Given the description of an element on the screen output the (x, y) to click on. 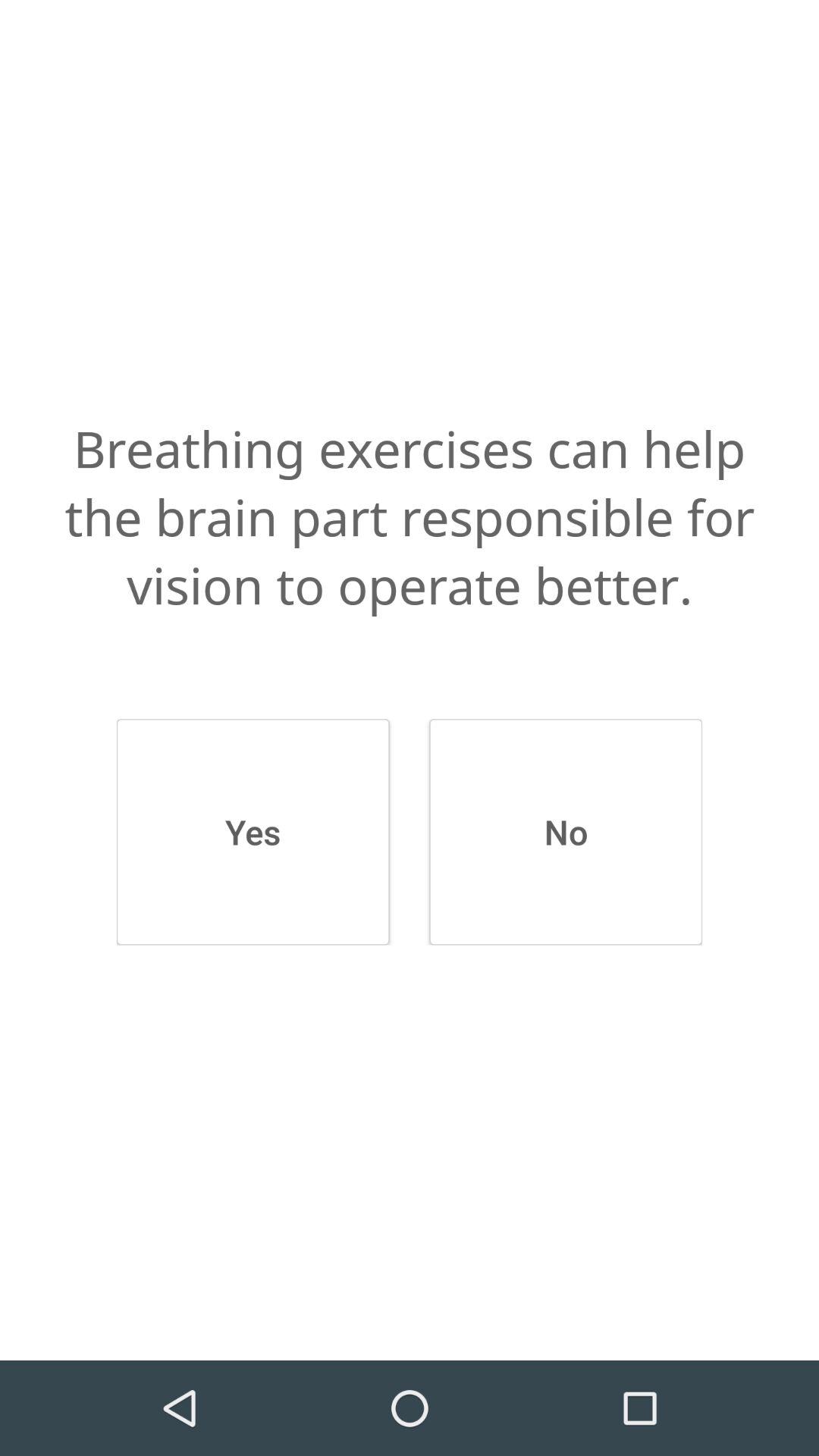
flip to the yes button (252, 831)
